Given the description of an element on the screen output the (x, y) to click on. 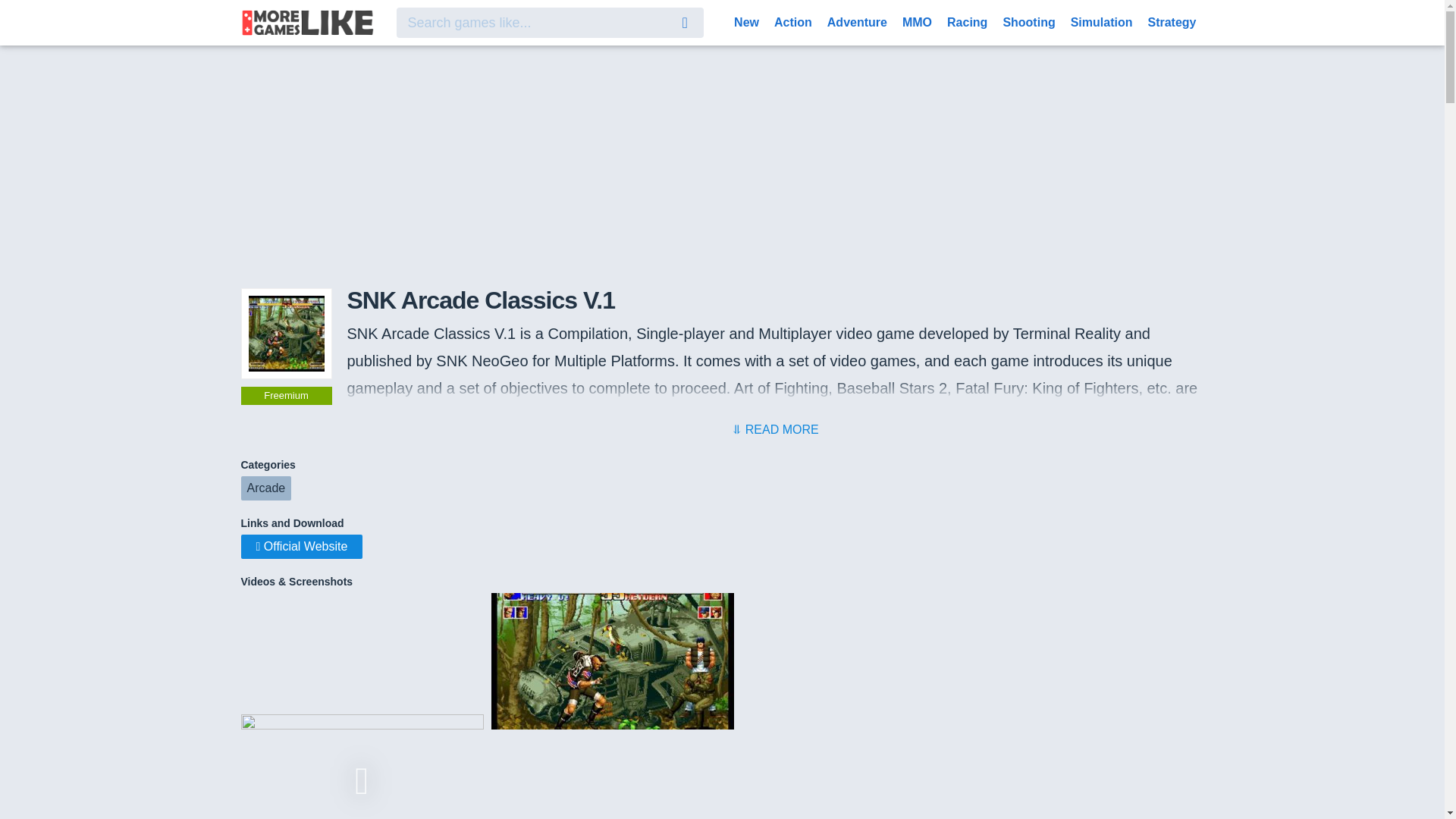
Simulation (1101, 21)
Arcade (266, 487)
Racing (966, 21)
New (746, 21)
Adventure (857, 21)
Official Website (301, 546)
MMO (917, 21)
Strategy (1172, 21)
Shooting (1028, 21)
